Given the description of an element on the screen output the (x, y) to click on. 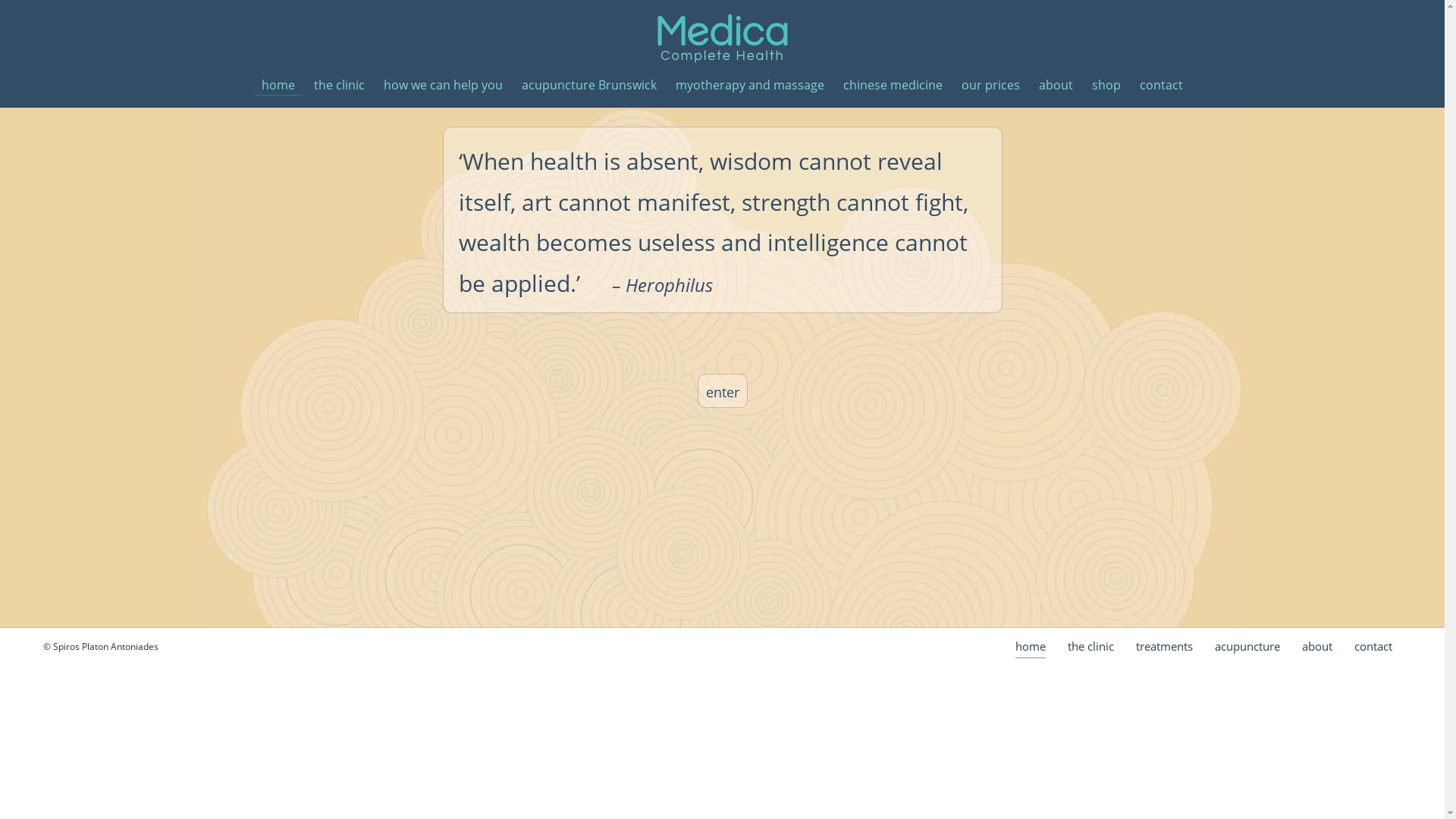
enter Element type: text (721, 391)
our prices Element type: text (990, 85)
acupuncture Element type: text (1247, 645)
myotherapy and massage Element type: text (749, 85)
how we can help you Element type: text (443, 85)
treatments Element type: text (1163, 645)
chinese medicine Element type: text (892, 85)
home Element type: text (278, 85)
contact Element type: text (1373, 645)
about Element type: text (1317, 645)
shop Element type: text (1106, 85)
about Element type: text (1055, 85)
the clinic Element type: text (1090, 645)
Medica Complete Health Element type: text (722, 35)
the clinic Element type: text (339, 85)
acupuncture Brunswick Element type: text (589, 85)
contact Element type: text (1161, 85)
home Element type: text (1030, 646)
